Given the description of an element on the screen output the (x, y) to click on. 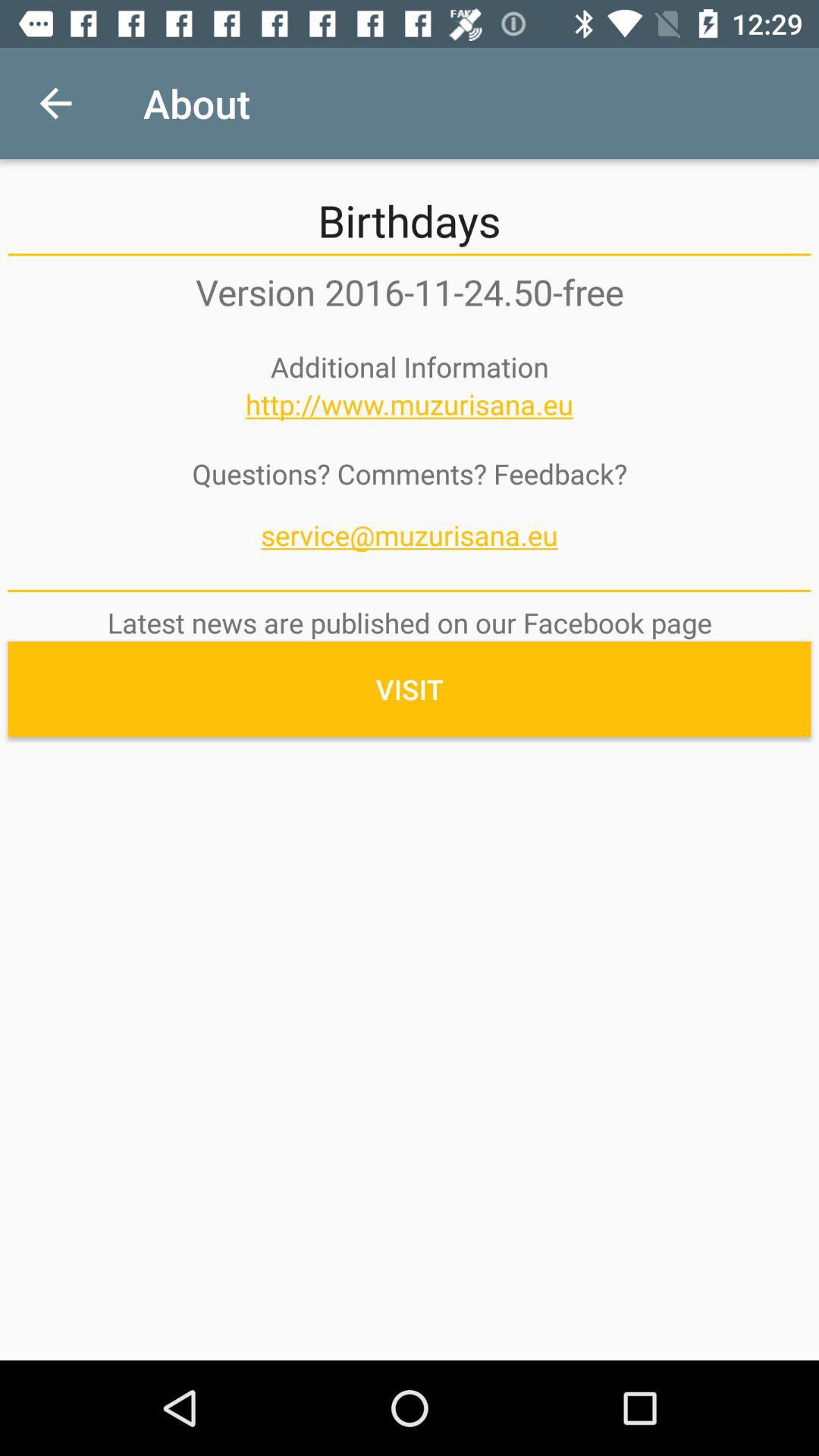
swipe to visit icon (409, 689)
